Given the description of an element on the screen output the (x, y) to click on. 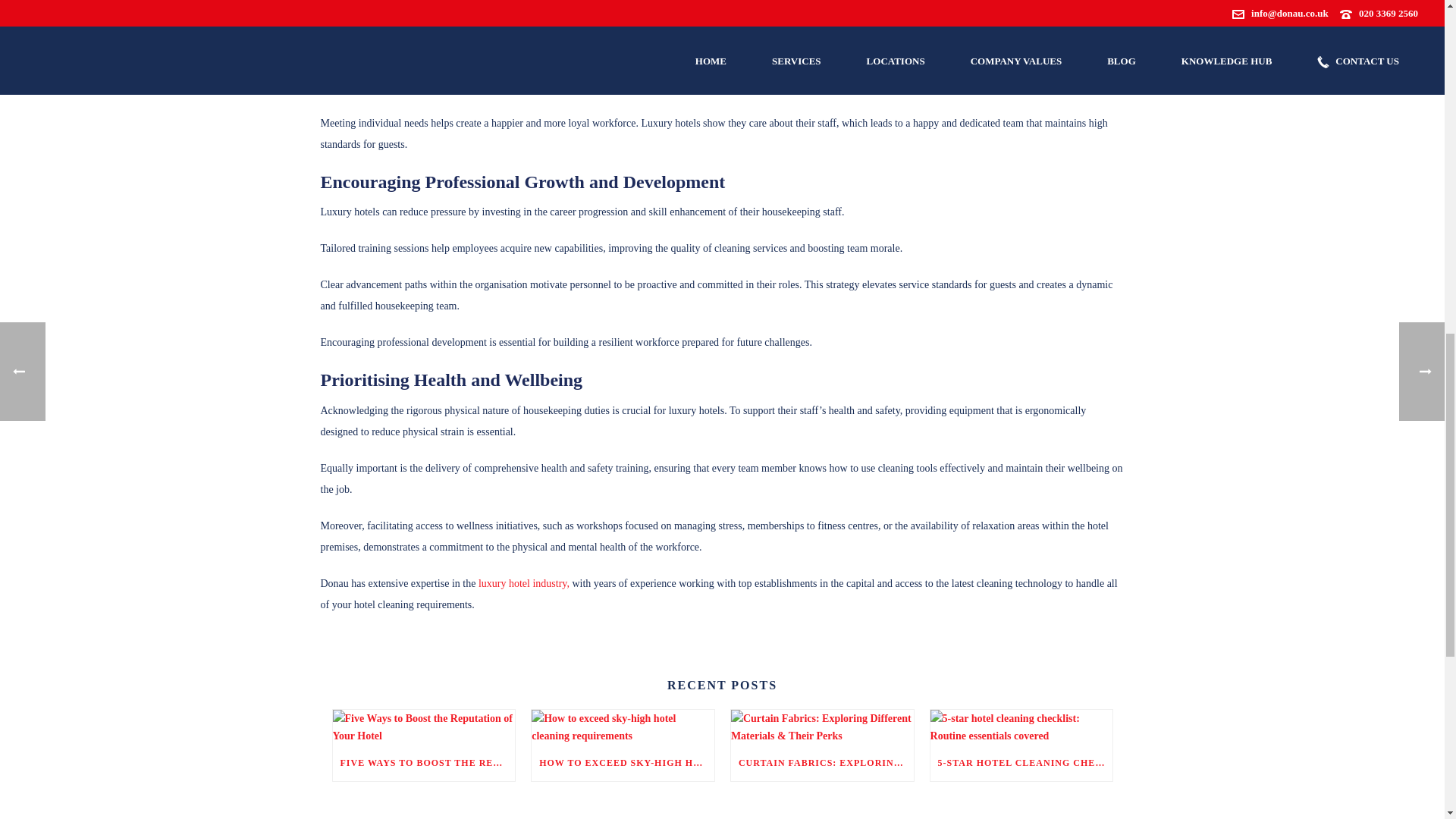
How to exceed sky-high hotel cleaning requirements (622, 727)
Five Ways to Boost the Reputation of Your Hotel (423, 727)
